Given the description of an element on the screen output the (x, y) to click on. 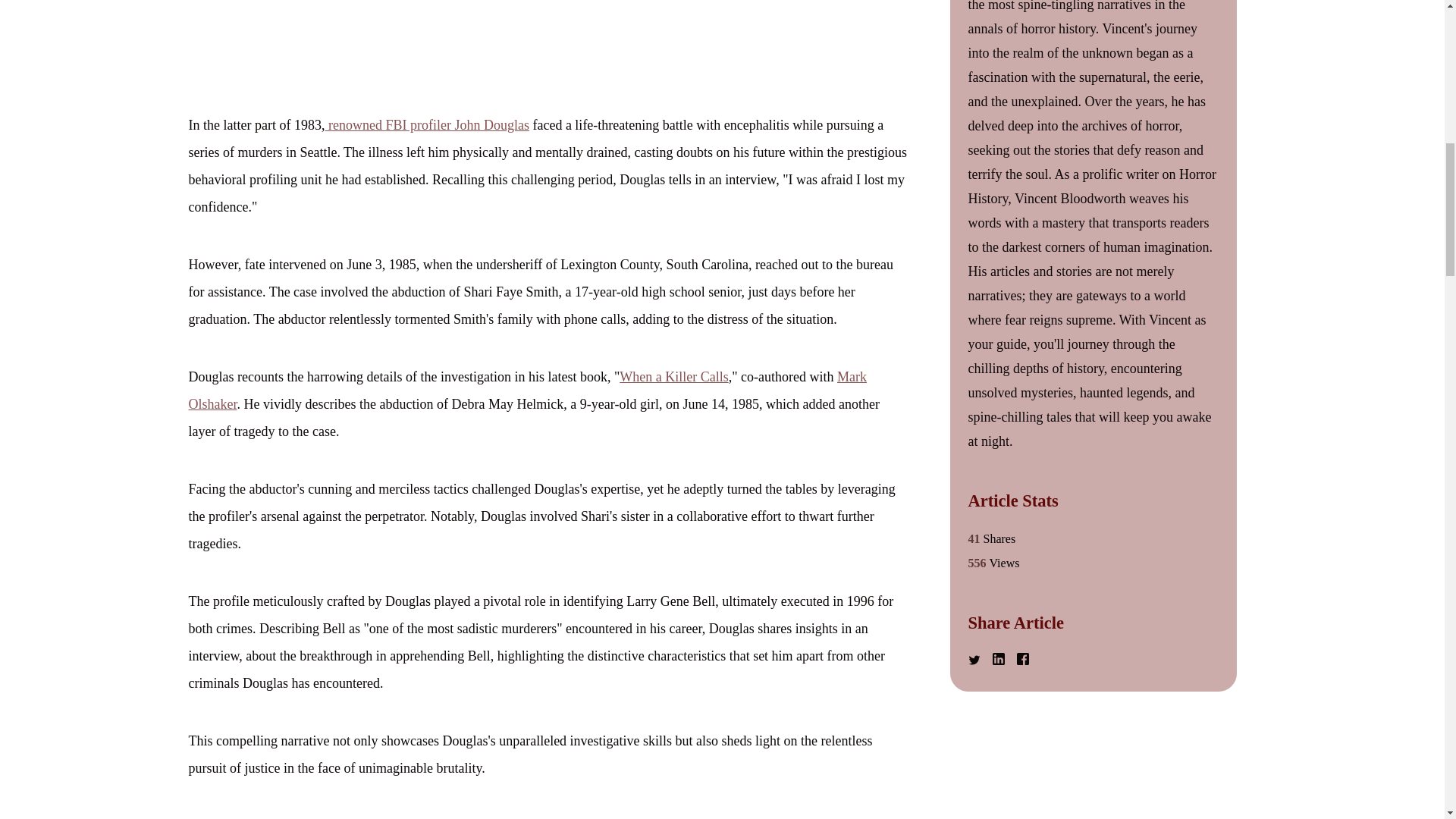
renowned FBI profiler John Douglas (426, 124)
Mark Olshaker (526, 390)
When a Killer Calls (674, 376)
